Given the description of an element on the screen output the (x, y) to click on. 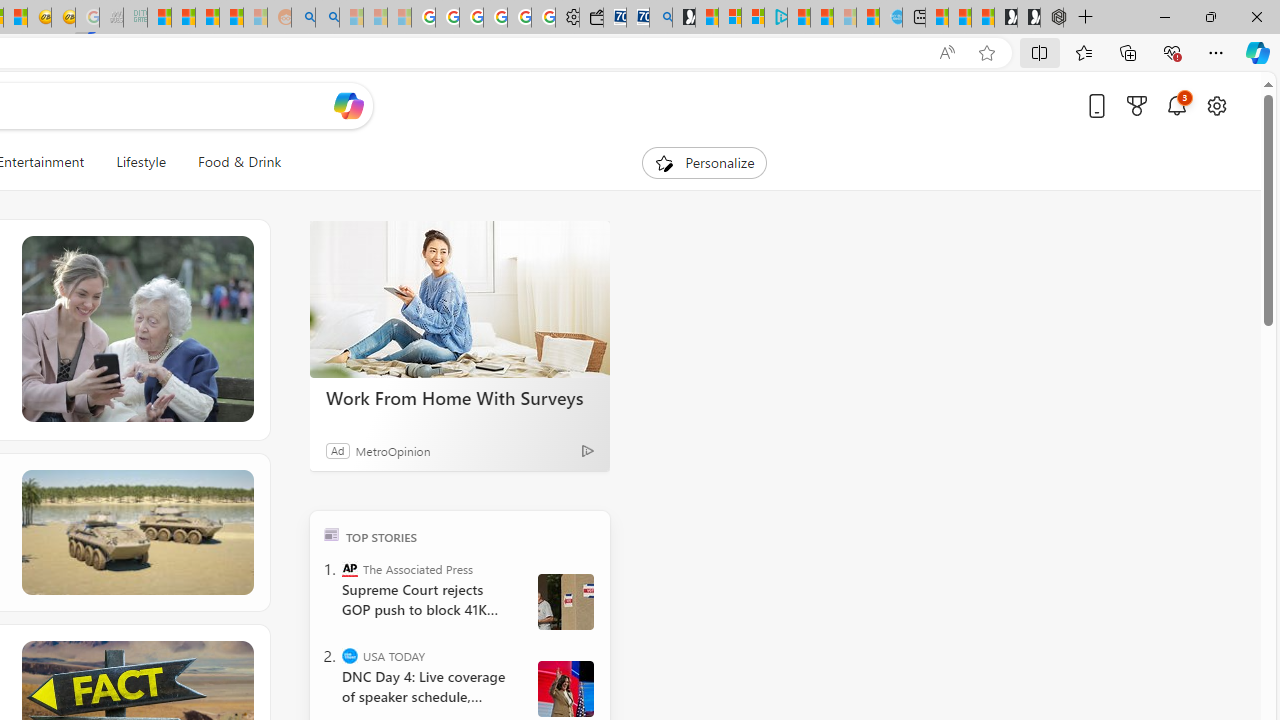
Utah sues federal government - Search (327, 17)
